Given the description of an element on the screen output the (x, y) to click on. 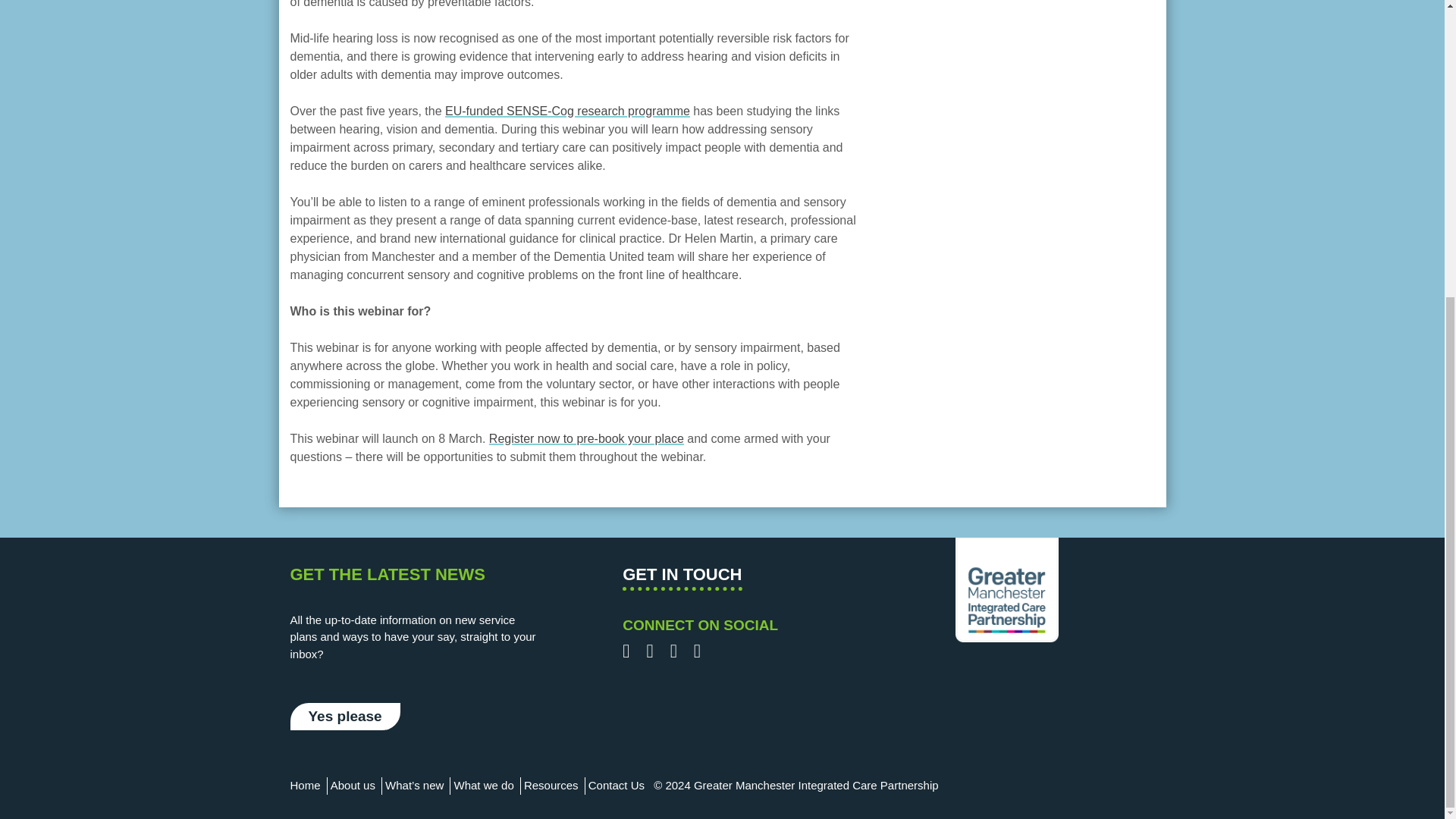
EU-funded SENSE-Cog research programme (567, 110)
GET IN TOUCH (682, 575)
Link to sign-up form (343, 716)
Home (304, 784)
About us (352, 784)
Link to get in touch (682, 575)
Resources (551, 784)
